Given the description of an element on the screen output the (x, y) to click on. 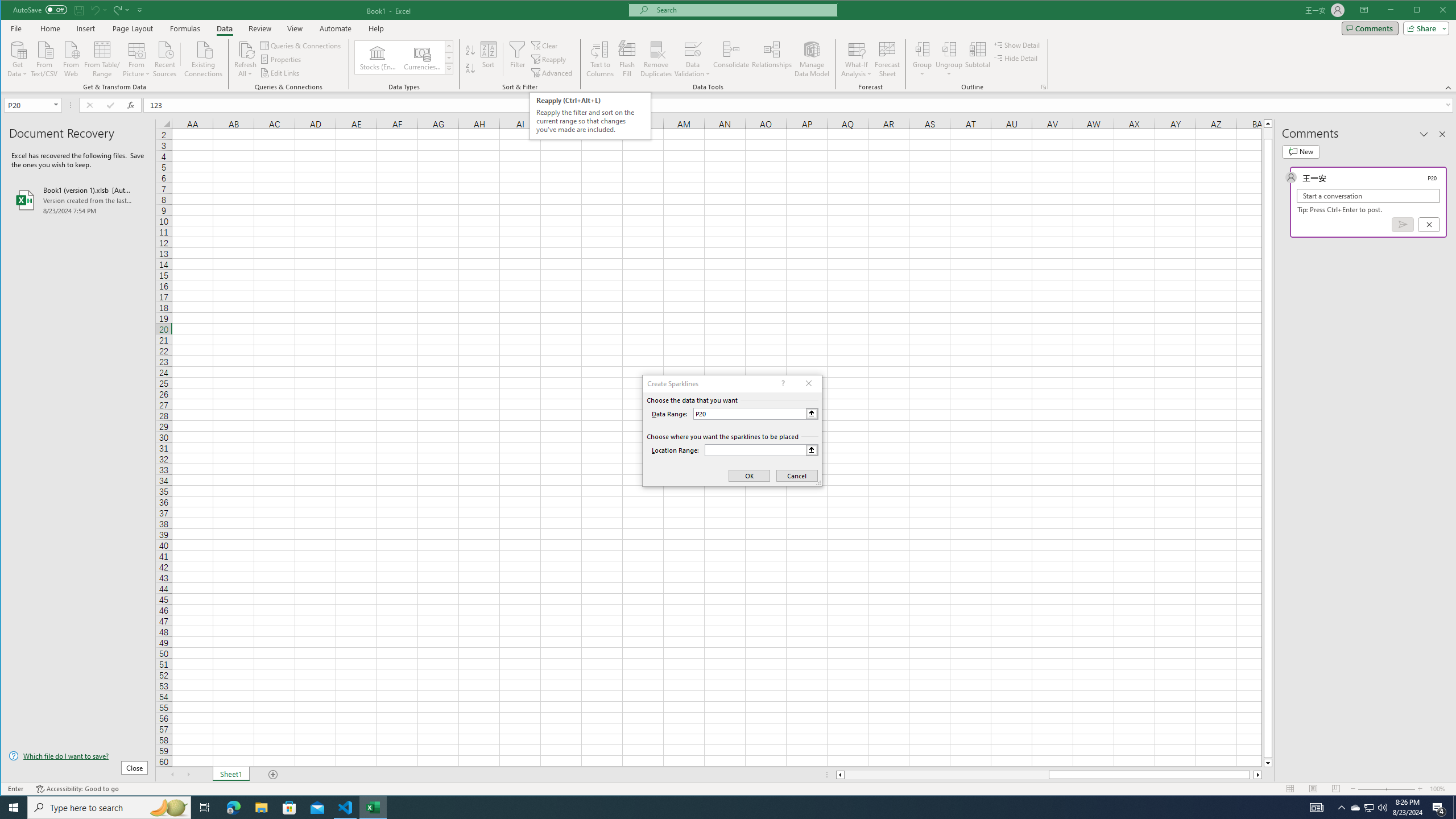
New comment (1300, 151)
